Given the description of an element on the screen output the (x, y) to click on. 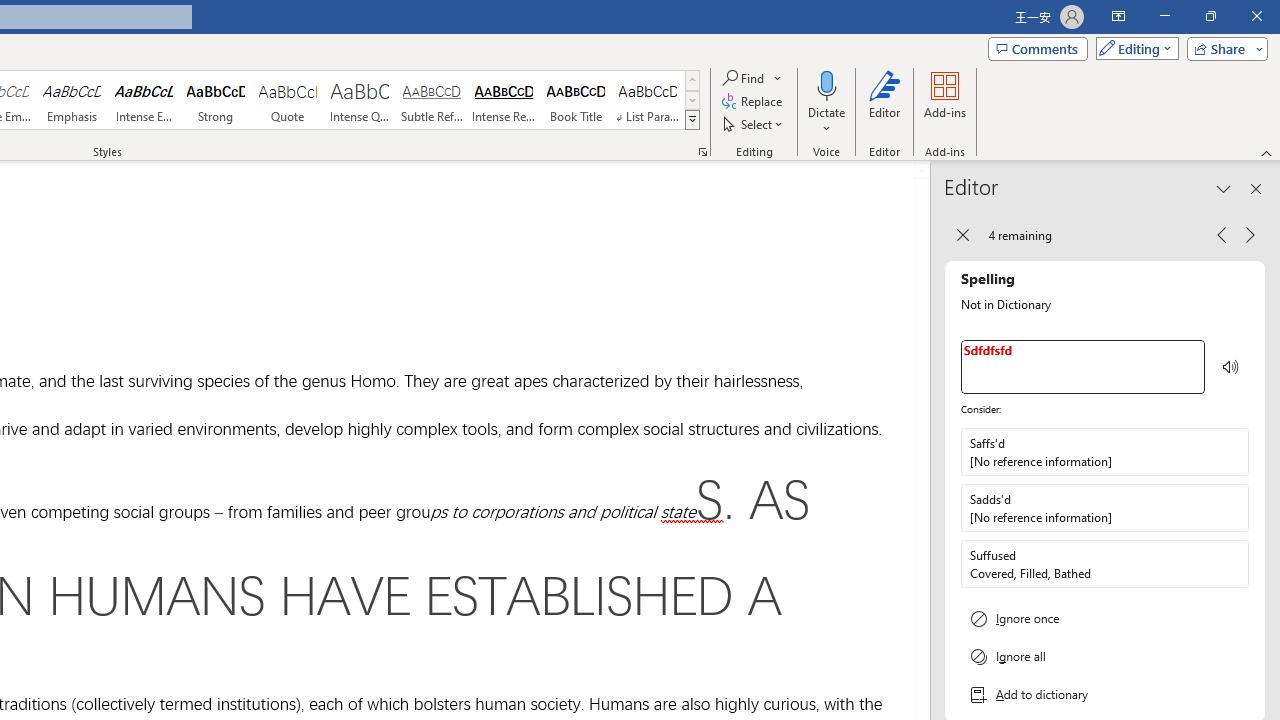
Share (1223, 48)
Mode (1133, 47)
Select (754, 124)
Subtle Reference (431, 100)
More options for Saffs'd (1232, 452)
Back (962, 234)
Ignore all (1105, 656)
Dictate (826, 84)
Class: NetUIImage (692, 119)
More options for Suffused (1232, 563)
Styles (692, 120)
Dictate (826, 102)
